Given the description of an element on the screen output the (x, y) to click on. 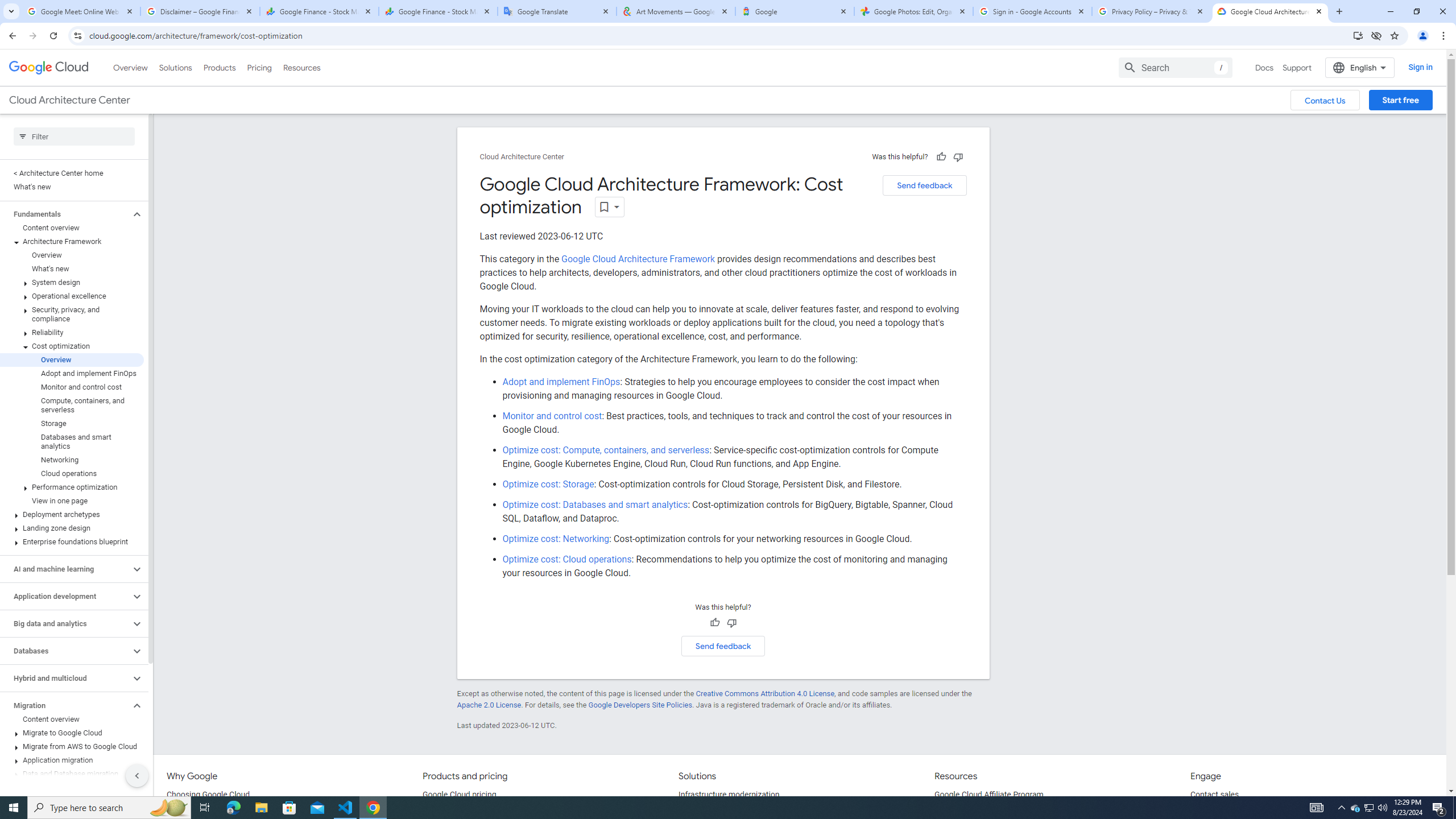
Optimize cost: Networking (556, 538)
Compute, containers, and serverless (72, 404)
Google Developers Site Policies (639, 705)
Cost optimization (72, 345)
Enterprise foundations blueprint (72, 541)
